Given the description of an element on the screen output the (x, y) to click on. 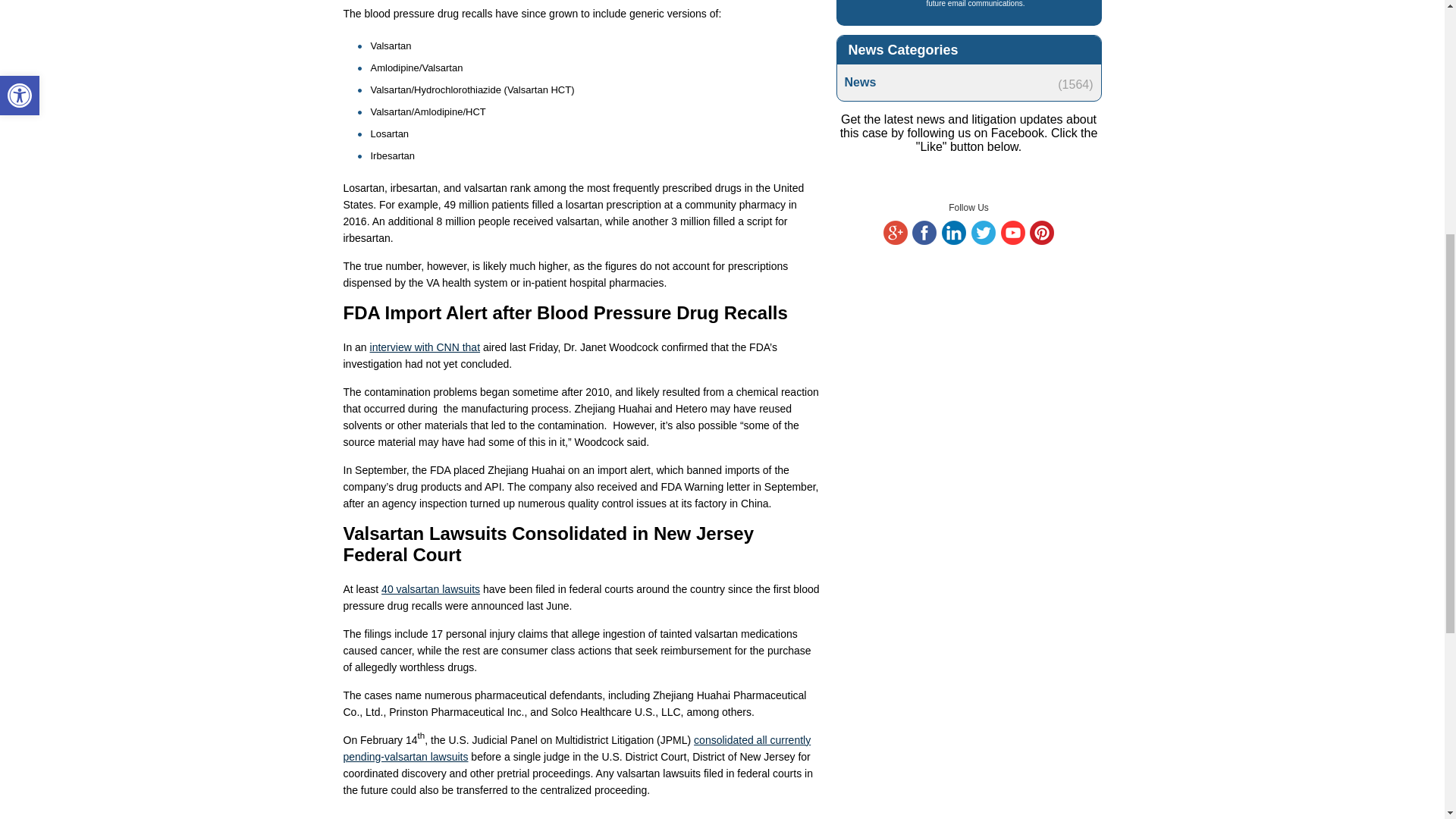
RXInjuryHelp.com on Twitter (983, 241)
RXInjuryHelp.com on Facebook (924, 241)
RXInjuryHelp.com on Pinterest (1041, 241)
RXInjuryHelp.com on YouTube (1013, 241)
RXInjuryHelp.com on LinkedIn (954, 241)
News (968, 82)
